Given the description of an element on the screen output the (x, y) to click on. 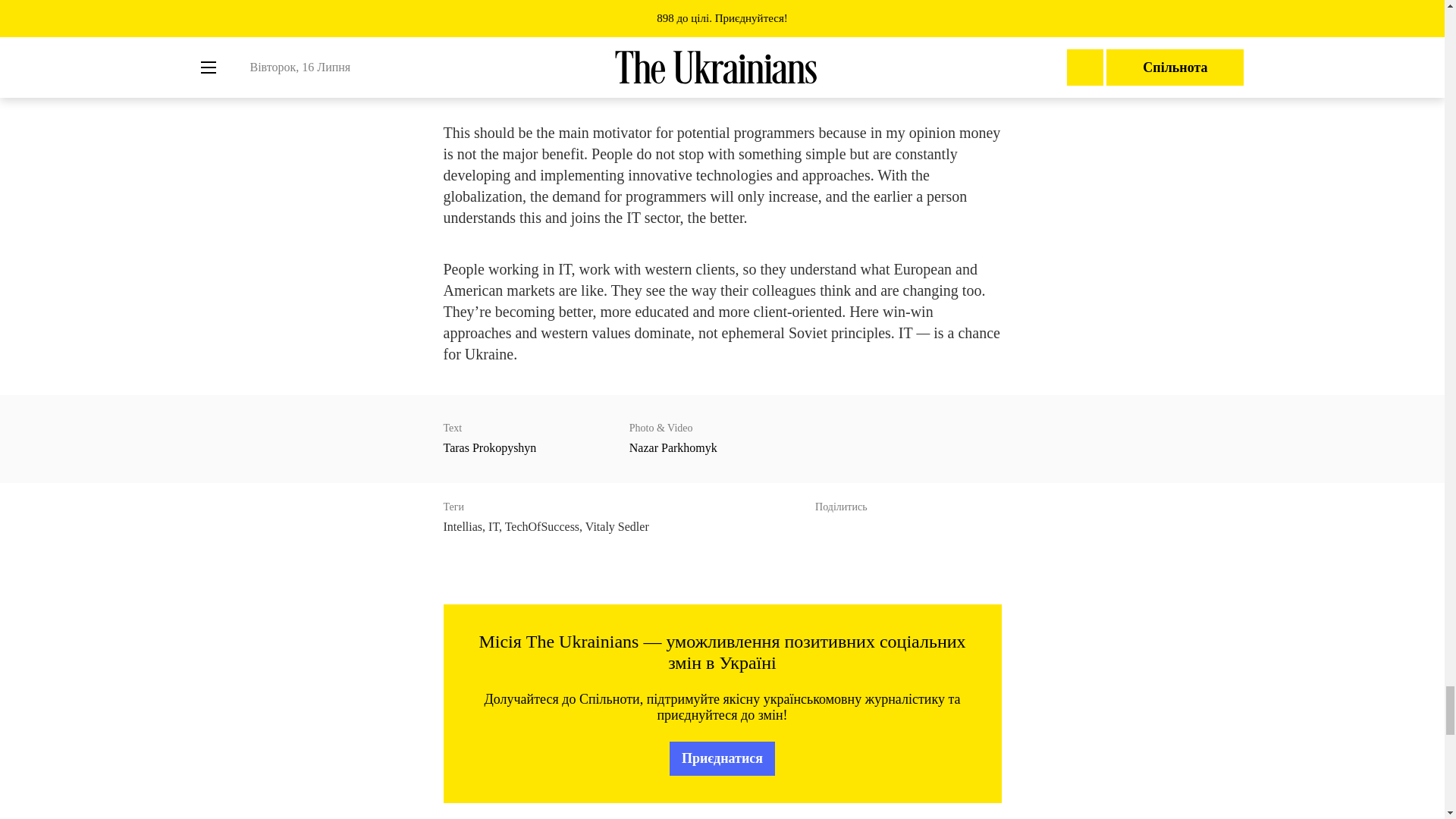
Taras Prokopyshyn (488, 447)
Nazar Parkhomyk (672, 447)
TechOfSuccess (542, 526)
Intellias (461, 526)
Vitaly Sedler (617, 526)
